Given the description of an element on the screen output the (x, y) to click on. 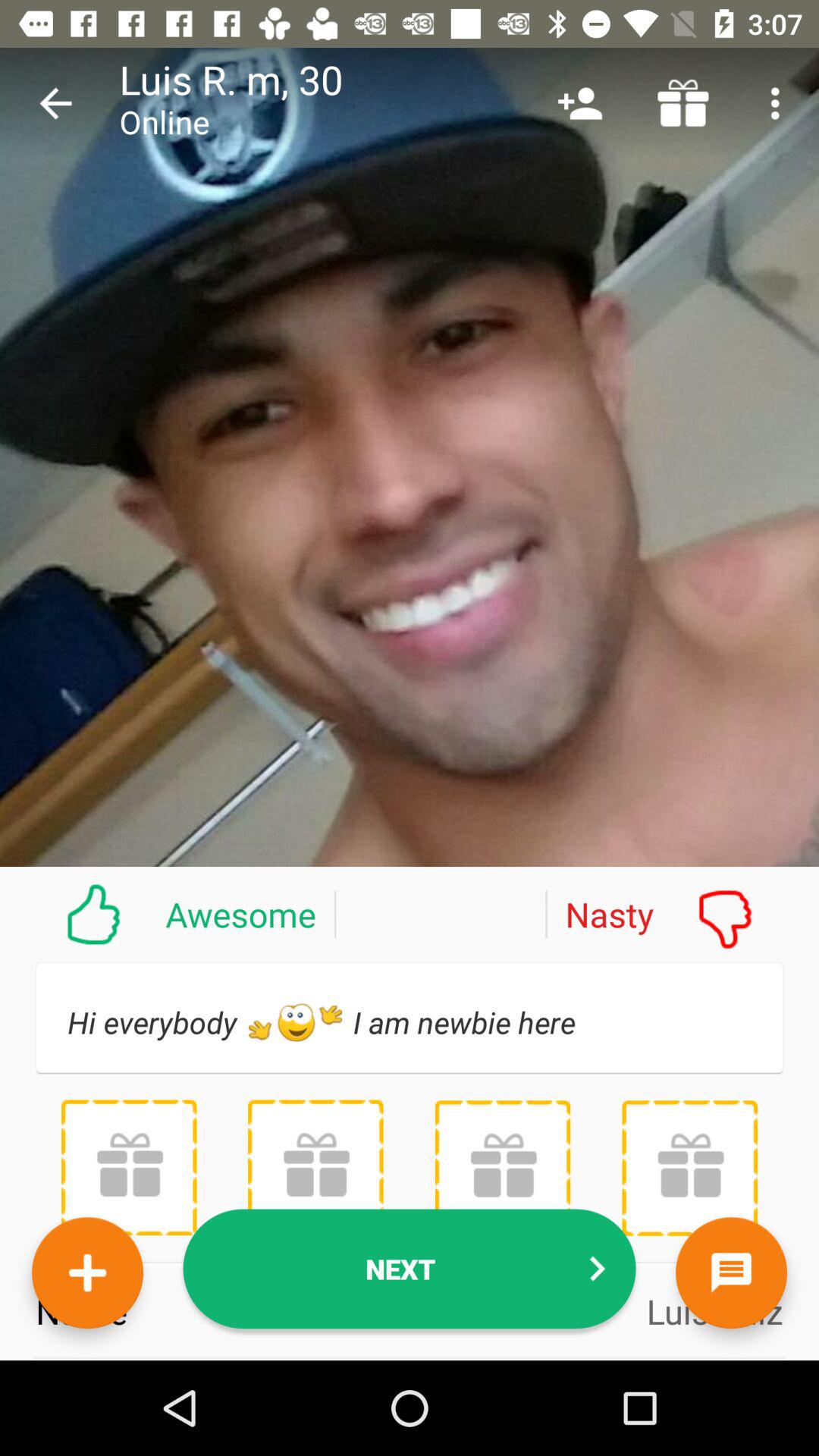
choose icon below the hi everybody h item (689, 1167)
